Given the description of an element on the screen output the (x, y) to click on. 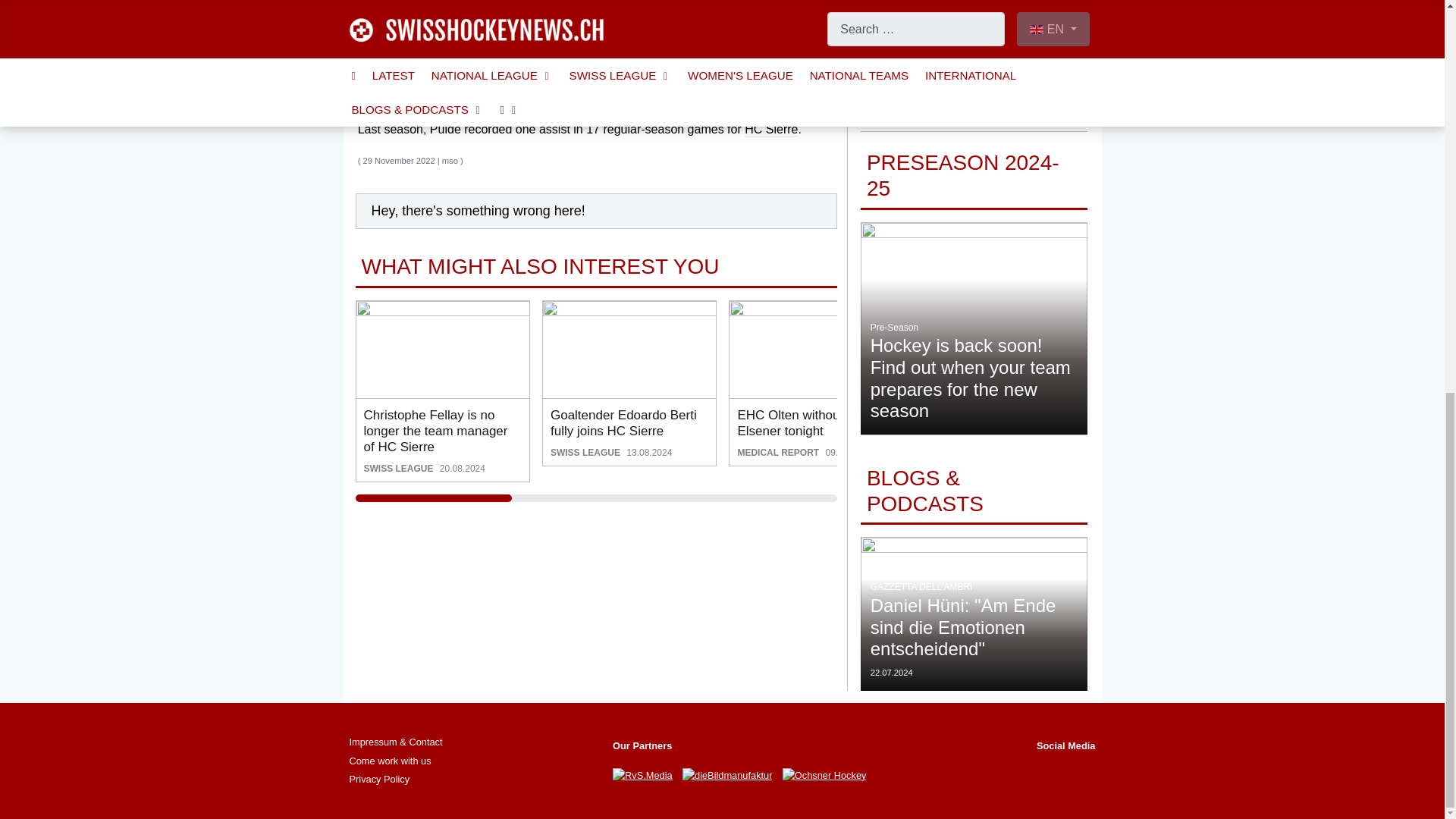
Goaltender Edoardo Berti fully joins HC Sierre (629, 349)
Christophe Fellay is no longer the team manager of HC Sierre (442, 349)
EHC Olten without Janis Elsener tonight (815, 349)
Odeen Tufto signs with the Fort Wayne Komets (1003, 349)
HCS: News, Kader, und Transfers (770, 129)
